Given the description of an element on the screen output the (x, y) to click on. 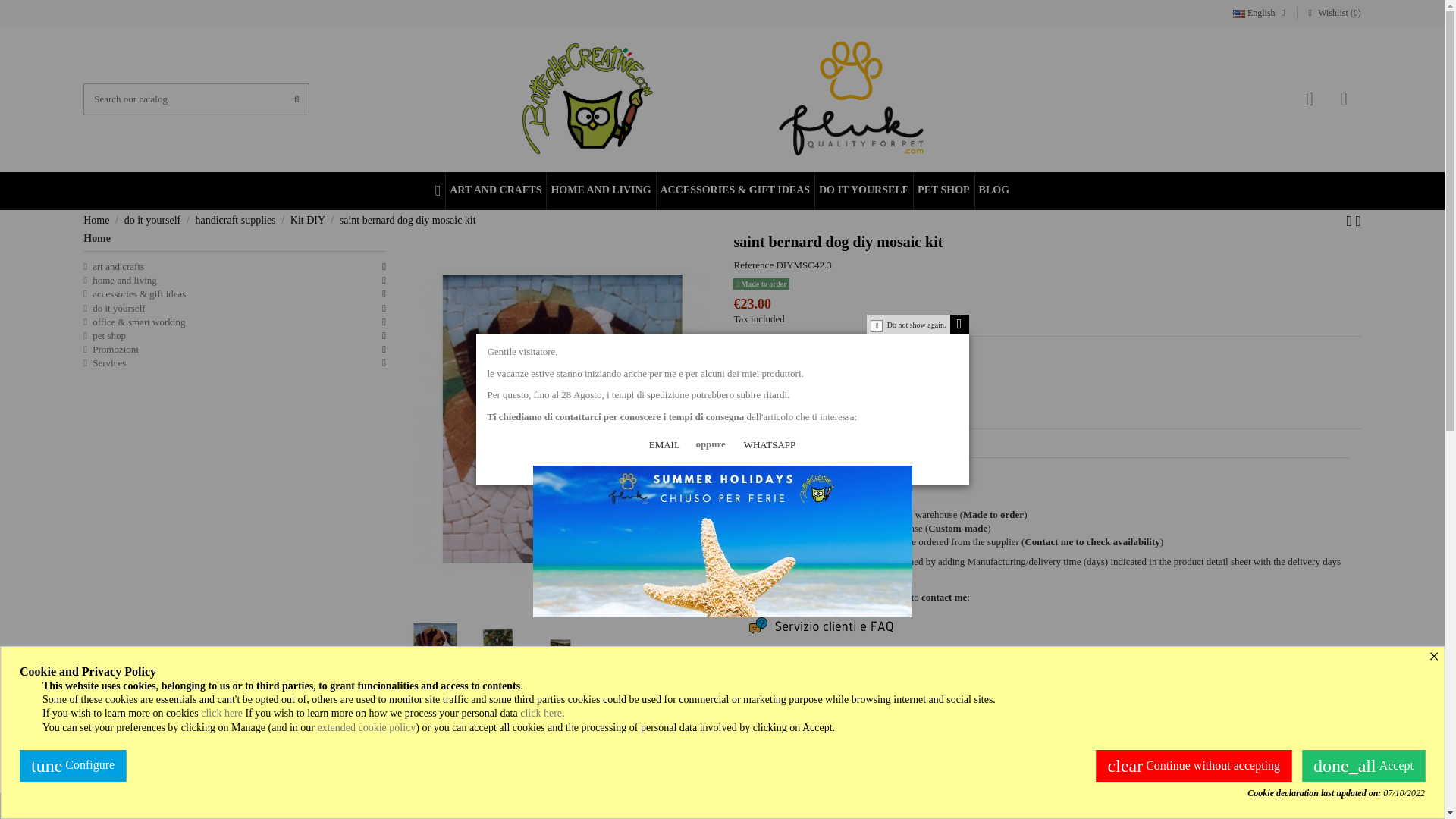
1 (755, 393)
English (1260, 12)
Log in to your customer account (1309, 98)
ART AND CRAFTS (494, 190)
HOME AND LIVING (598, 190)
